Given the description of an element on the screen output the (x, y) to click on. 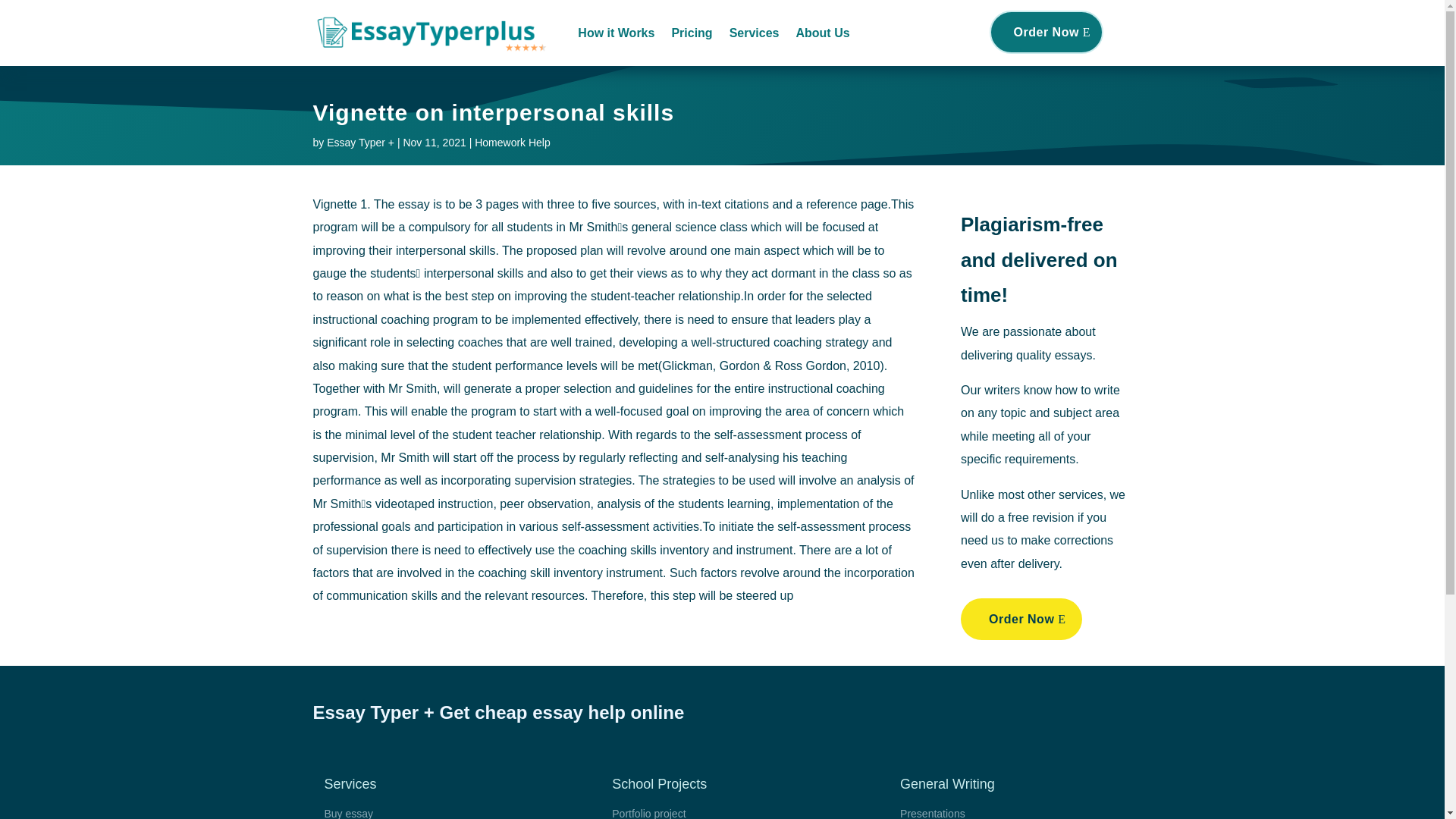
Order Now (1046, 32)
Homework Help (512, 142)
How it Works (615, 33)
About Us (821, 33)
Order Now (1020, 618)
